Given the description of an element on the screen output the (x, y) to click on. 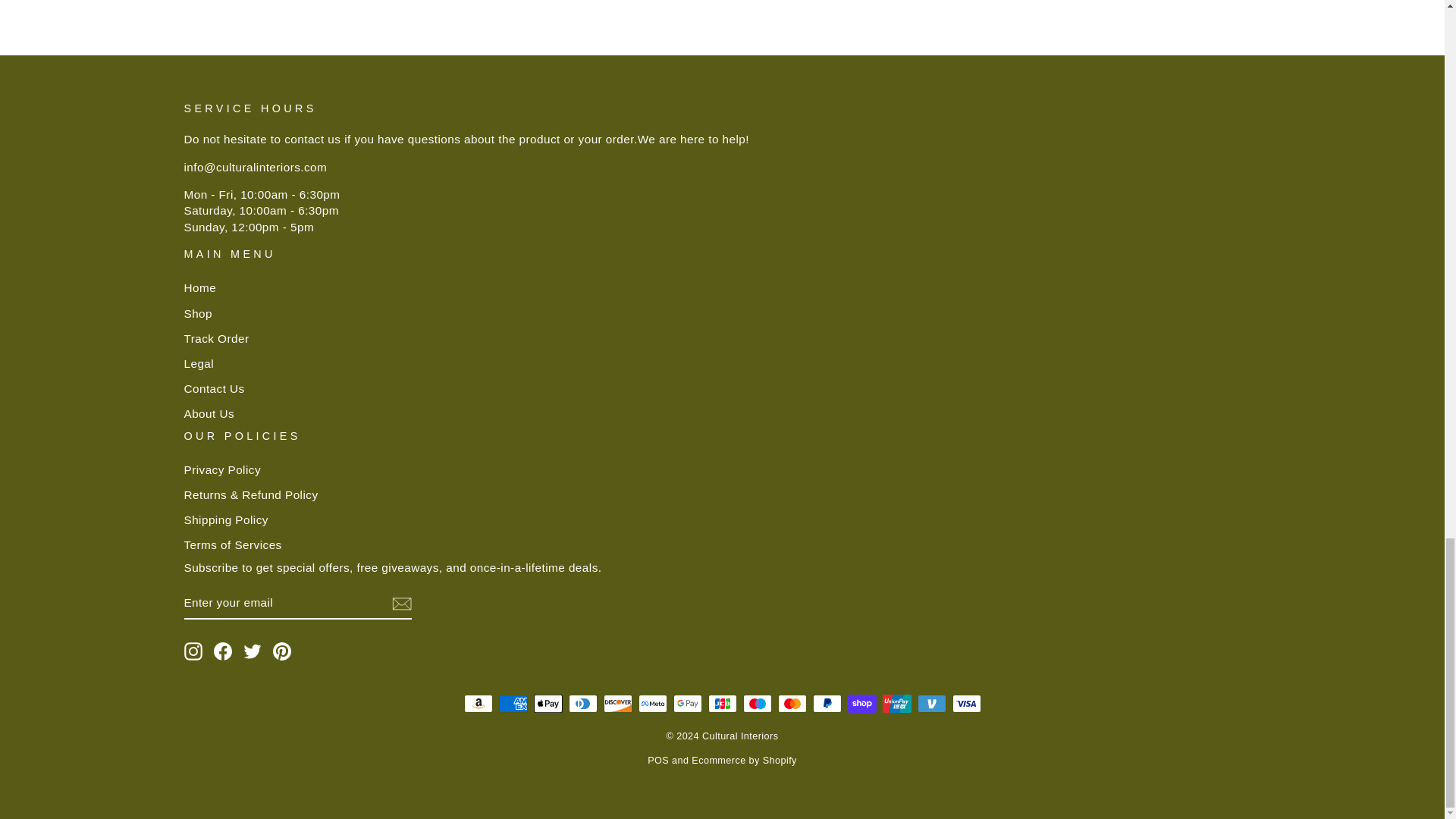
Cultural Interiors on Facebook (222, 651)
Cultural Interiors on Pinterest (282, 651)
Apple Pay (548, 703)
Cultural Interiors on Instagram (192, 651)
Diners Club (582, 703)
Amazon (478, 703)
Discover (617, 703)
American Express (513, 703)
Cultural Interiors on Twitter (251, 651)
